Given the description of an element on the screen output the (x, y) to click on. 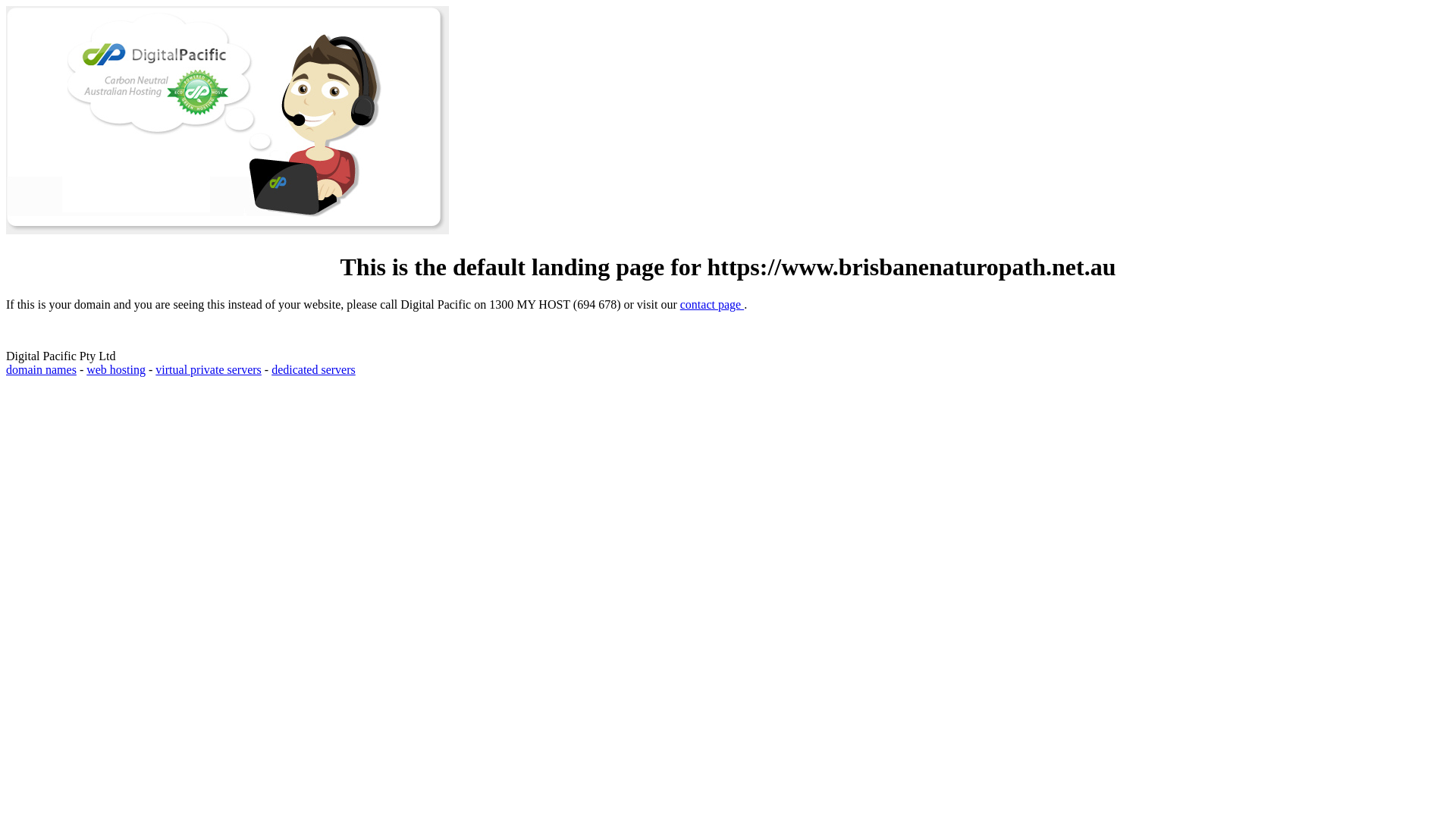
virtual private servers Element type: text (208, 369)
contact page Element type: text (711, 304)
domain names Element type: text (41, 369)
dedicated servers Element type: text (313, 369)
web hosting Element type: text (115, 369)
